Given the description of an element on the screen output the (x, y) to click on. 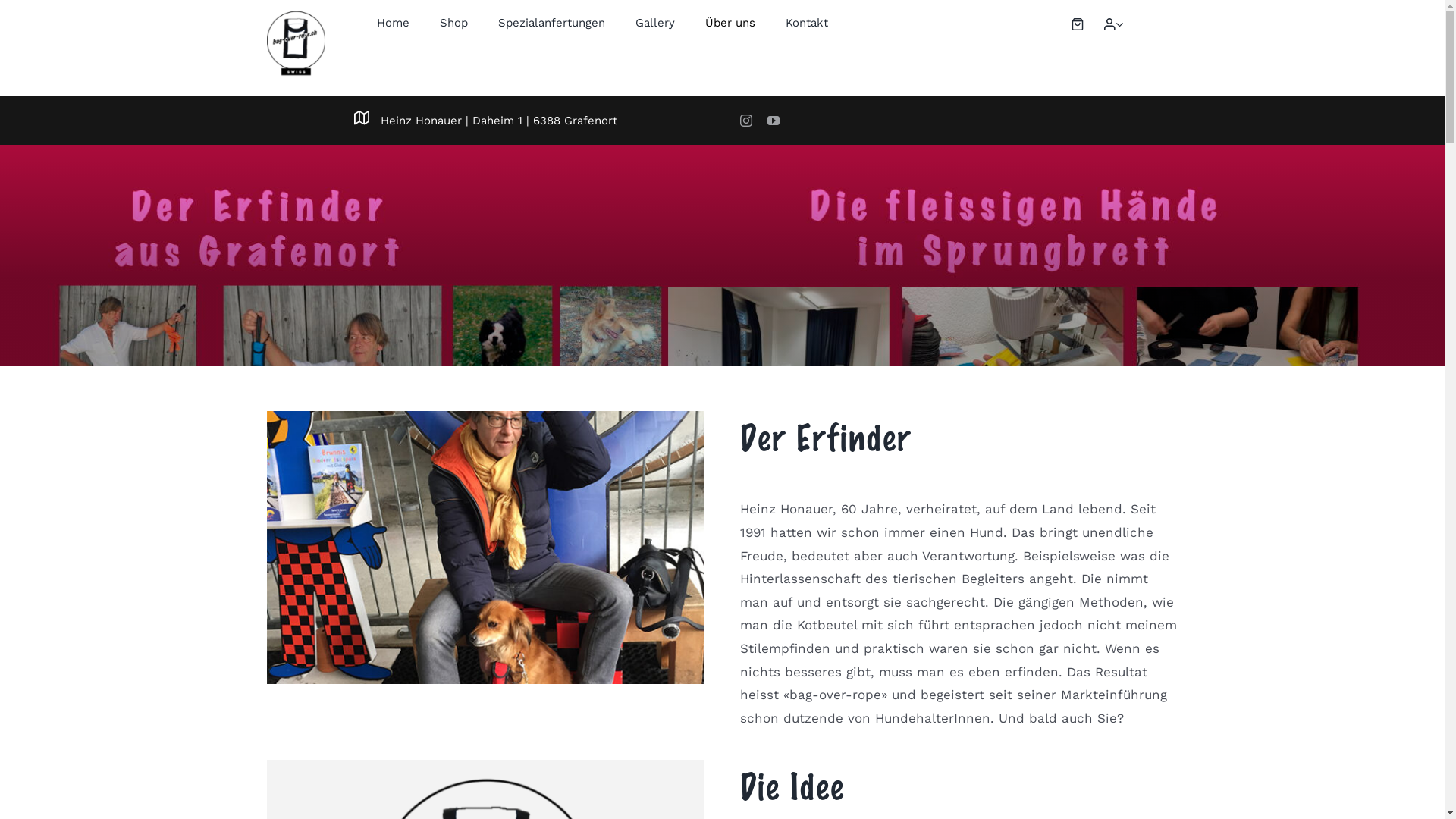
Shop Element type: text (453, 23)
Kontakt Element type: text (806, 23)
Anmeldung Element type: text (1083, 184)
Spezialanfertungen Element type: text (551, 23)
Gallery Element type: text (655, 23)
Globi-bei-Globi-Heinz Element type: hover (484, 547)
Home Element type: text (392, 23)
